Given the description of an element on the screen output the (x, y) to click on. 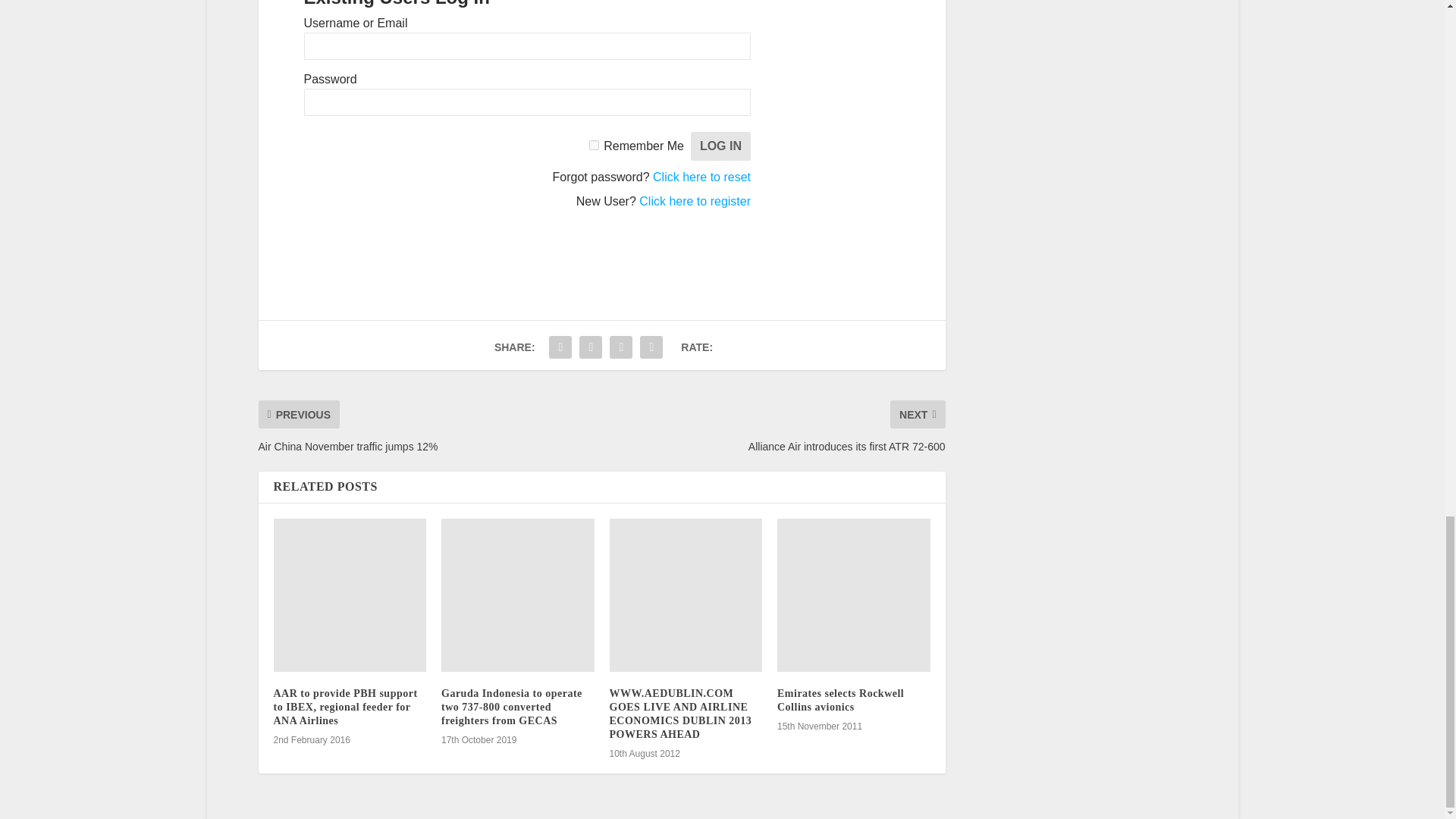
Emirates selects Rockwell Collins avionics (853, 594)
Share "New airport approved for Beijing" via LinkedIn (590, 347)
Share "New airport approved for Beijing" via Twitter (559, 347)
forever (593, 144)
Share "New airport approved for Beijing" via Email (620, 347)
Log In (720, 145)
Share "New airport approved for Beijing" via Print (651, 347)
